Given the description of an element on the screen output the (x, y) to click on. 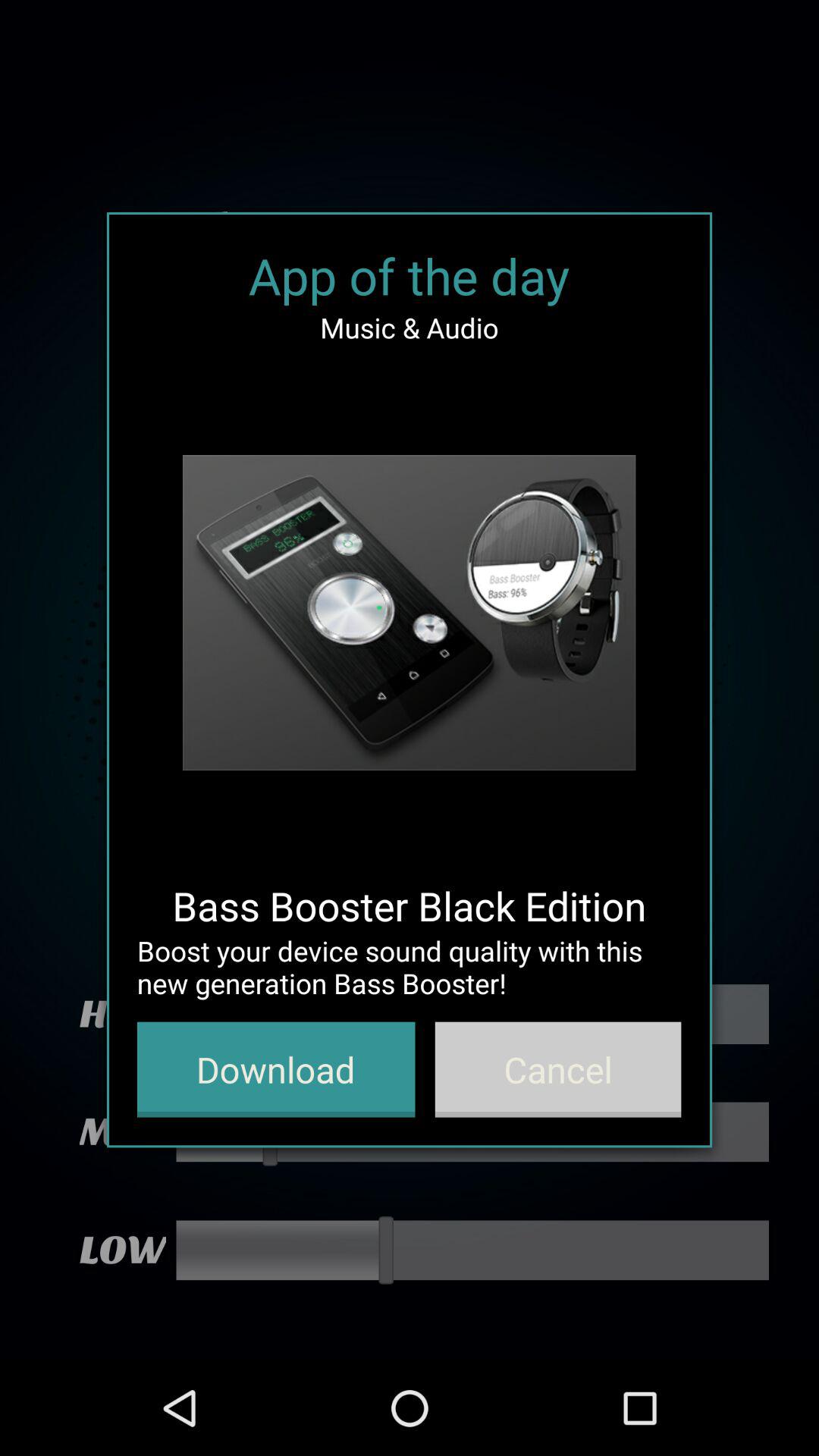
turn off icon at the bottom (276, 1069)
